Given the description of an element on the screen output the (x, y) to click on. 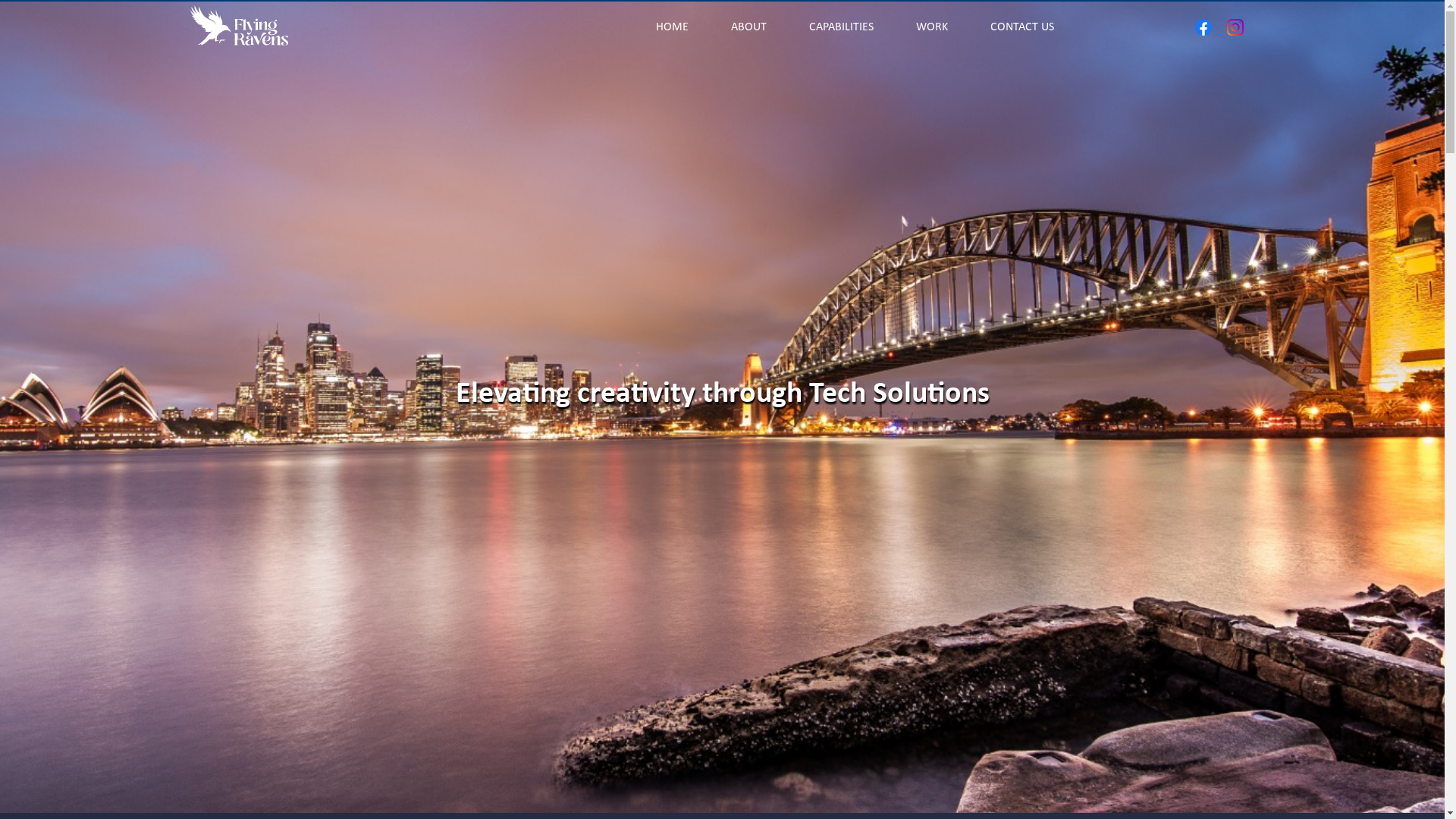
CONTACT US Element type: text (1013, 26)
ABOUT Element type: text (739, 26)
CAPABILITIES Element type: text (831, 26)
HOME Element type: text (662, 26)
WORK Element type: text (922, 26)
